Given the description of an element on the screen output the (x, y) to click on. 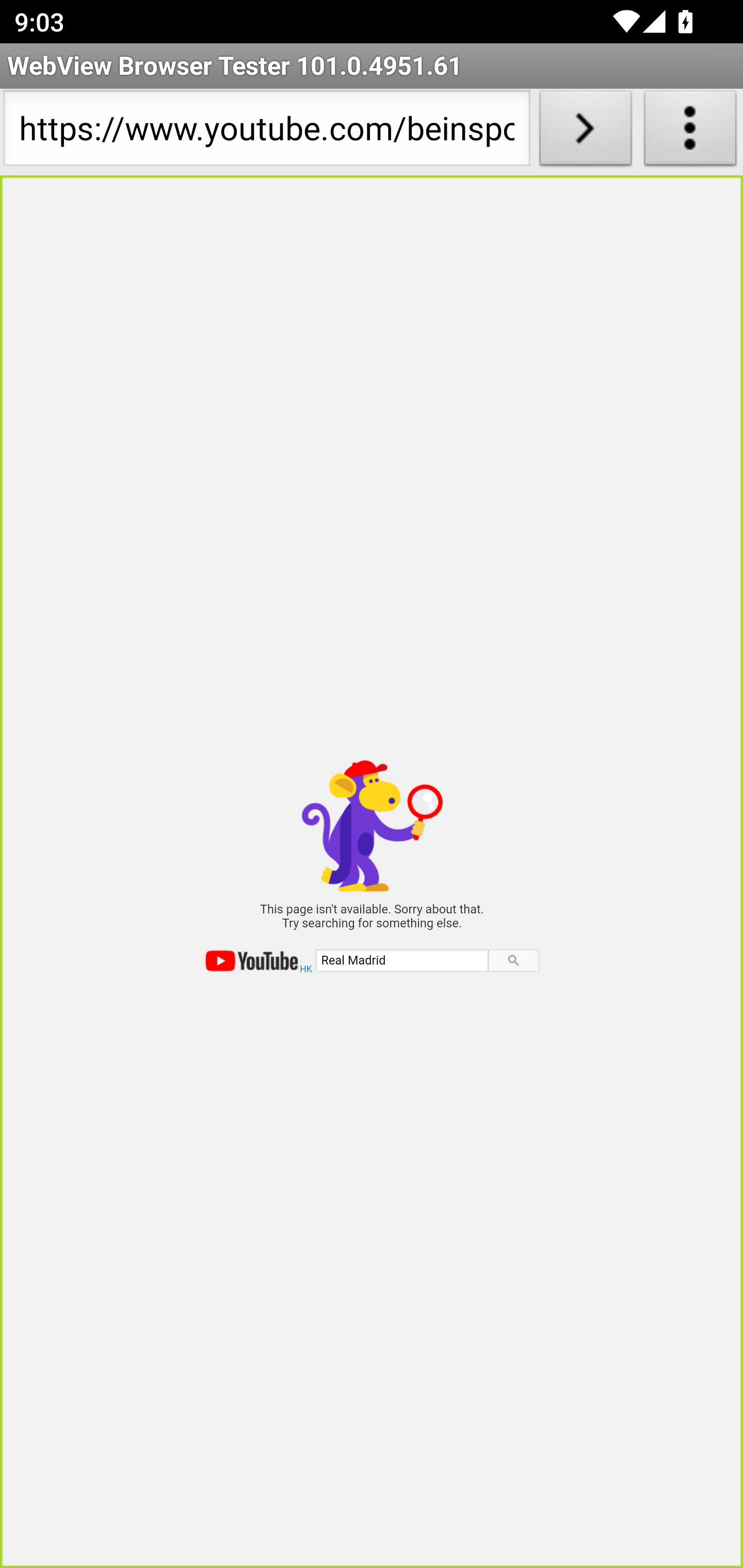
Load URL (585, 132)
About WebView (690, 132)
YouTube home HK YouTube home HK (258, 961)
Real Madrid (401, 959)
Search (513, 960)
